Given the description of an element on the screen output the (x, y) to click on. 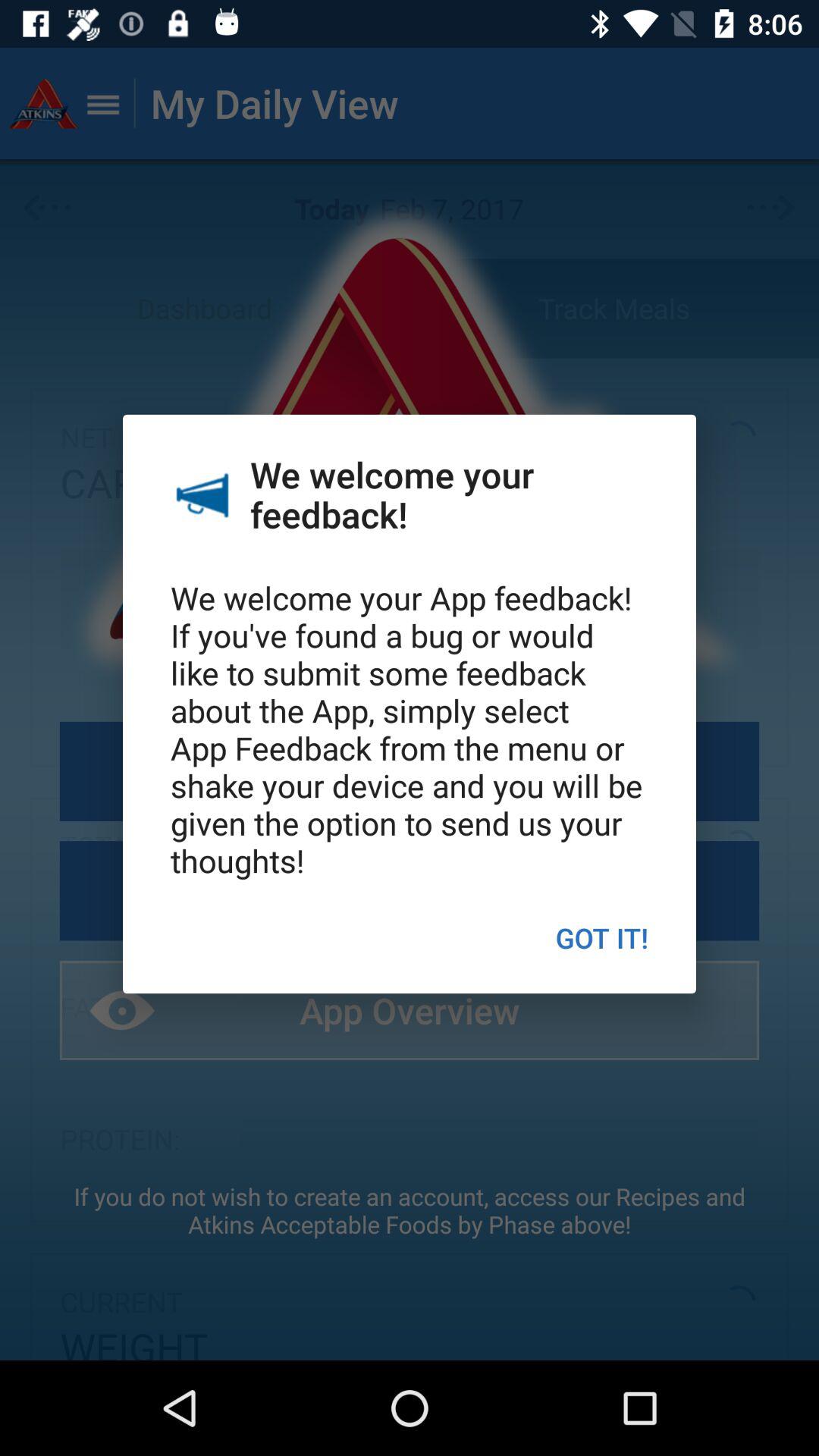
click the icon on the right (601, 937)
